Given the description of an element on the screen output the (x, y) to click on. 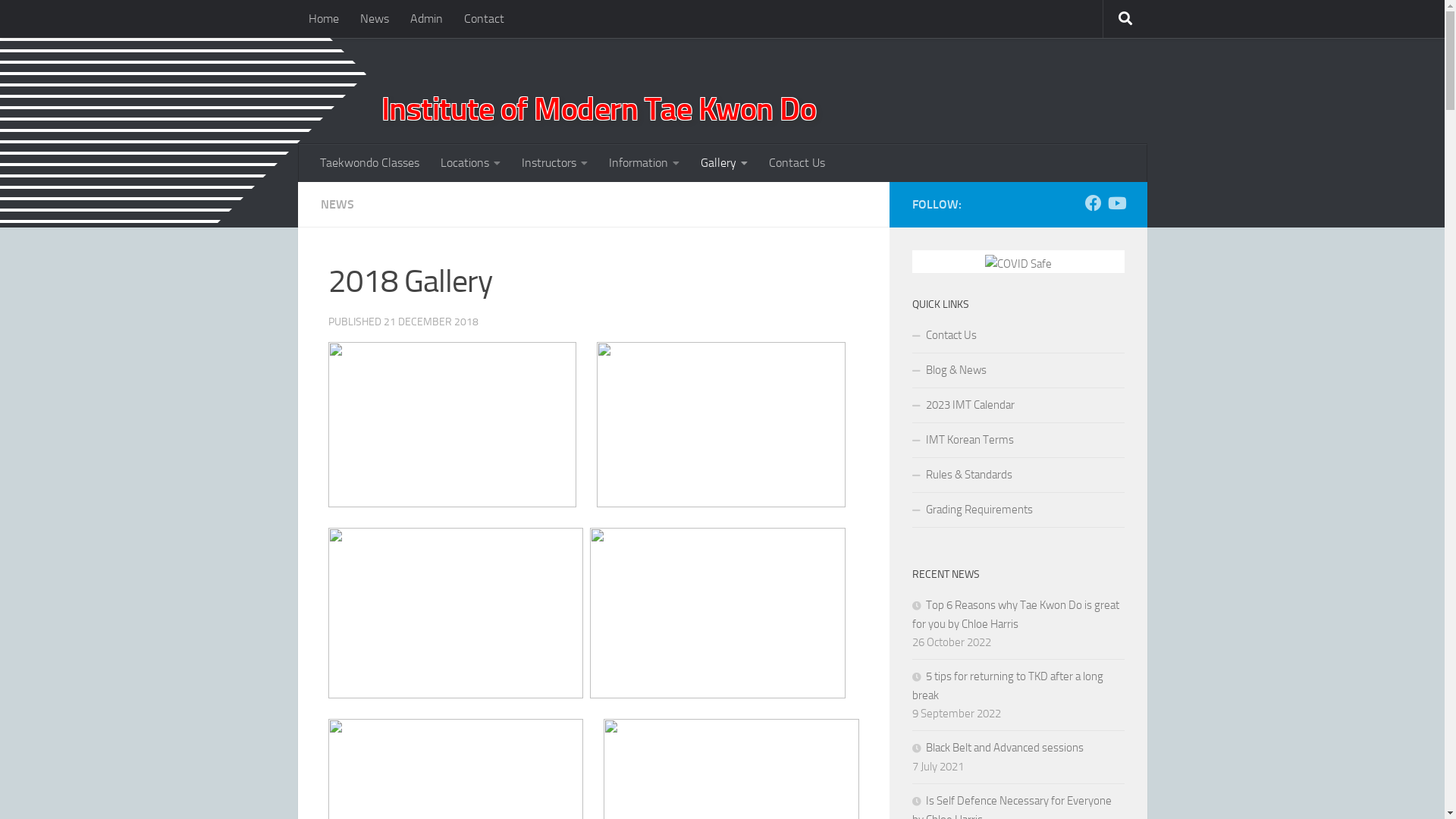
Information Element type: text (643, 163)
NEWS Element type: text (336, 204)
Institute of Modern Tae Kwon Do Element type: text (751, 109)
Gallery Element type: text (724, 163)
5 tips for returning to TKD after a long break Element type: text (1006, 685)
2023 IMT Calendar Element type: text (1017, 405)
Blog & News Element type: text (1017, 370)
Rules & Standards Element type: text (1017, 475)
Taekwondo Classes Element type: text (369, 163)
Locations Element type: text (469, 163)
Grading Requirements Element type: text (1017, 509)
Admin Element type: text (425, 18)
Follow us on Facebook Element type: hover (1092, 202)
Instructors Element type: text (554, 163)
Black Belt and Advanced sessions Element type: text (996, 747)
Contact Us Element type: text (1017, 335)
Home Element type: text (322, 18)
Contact Element type: text (483, 18)
IMT Korean Terms Element type: text (1017, 440)
News Element type: text (373, 18)
Skip to content Element type: text (60, 21)
Contact Us Element type: text (796, 163)
Follow us on Youtube Element type: hover (1115, 202)
